Given the description of an element on the screen output the (x, y) to click on. 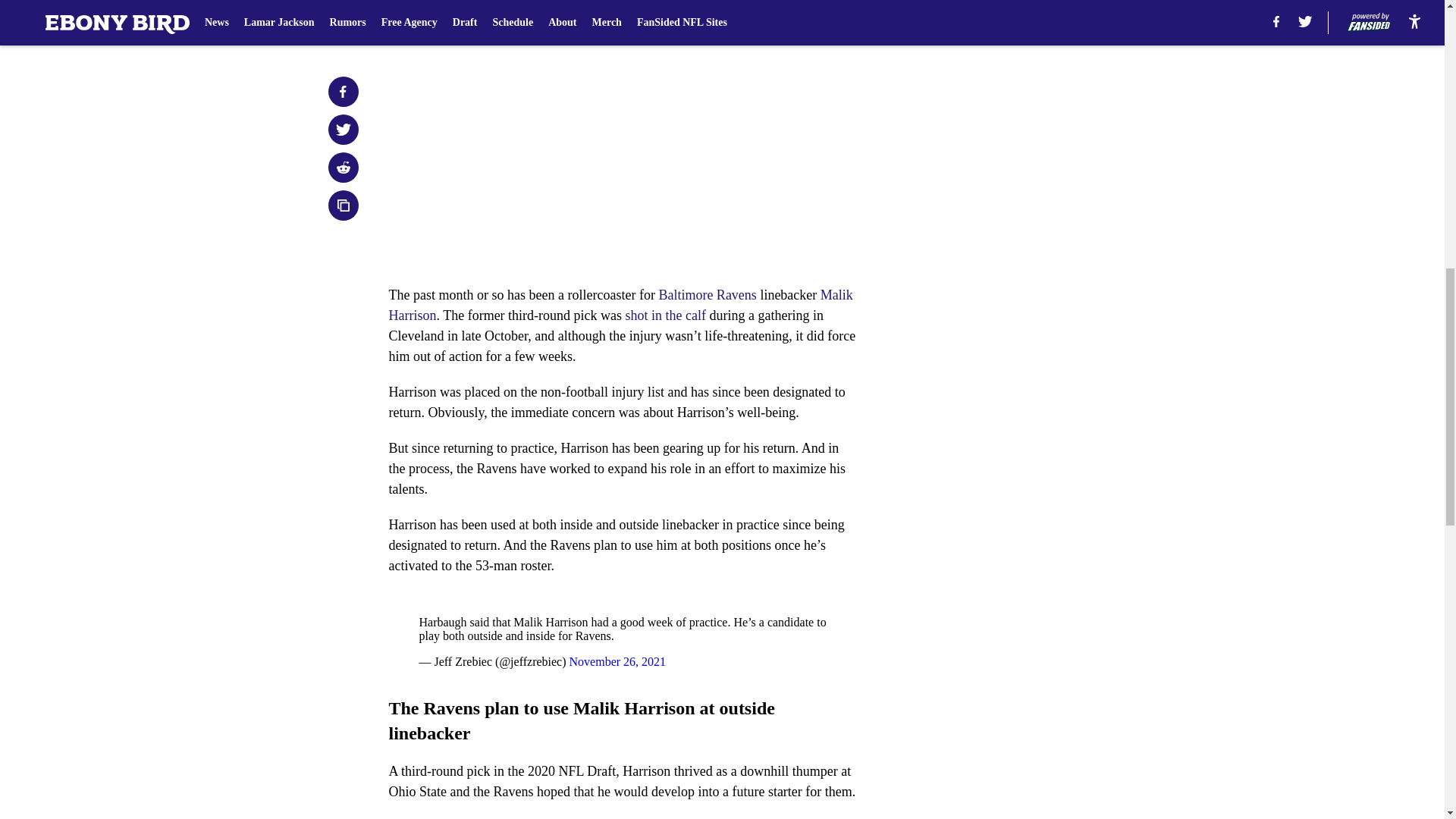
Baltimore Ravens (706, 294)
shot in the calf (666, 314)
November 26, 2021 (617, 661)
Malik Harrison (619, 304)
